Given the description of an element on the screen output the (x, y) to click on. 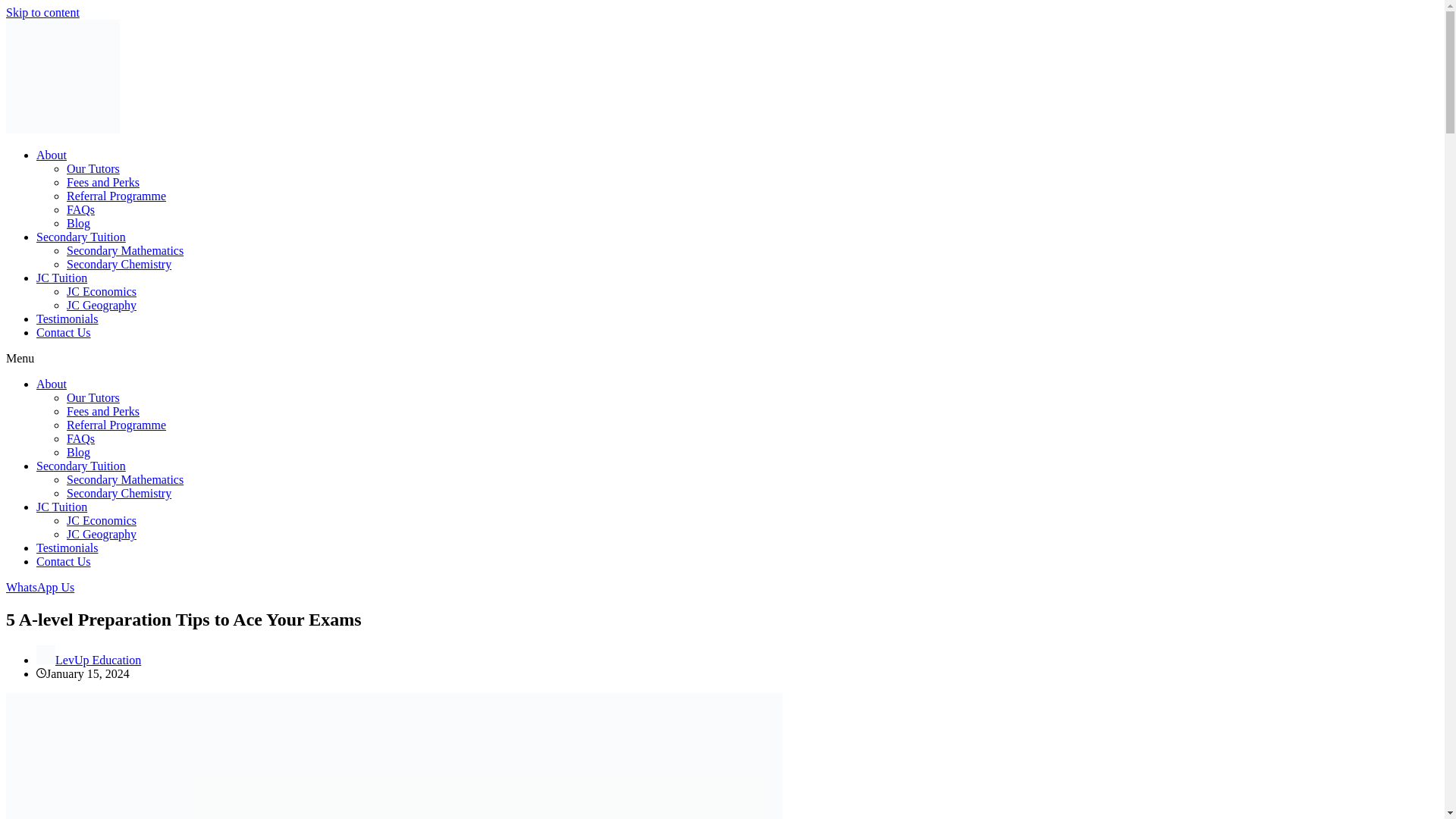
About (51, 383)
Secondary Mathematics (124, 250)
Referral Programme (115, 195)
Referral Programme (115, 424)
Secondary Chemistry (118, 492)
Secondary Chemistry (118, 264)
Our Tutors (92, 397)
WhatsApp Us (39, 586)
Posts by LevUp Education (98, 659)
Testimonials (67, 318)
Contact Us (63, 332)
LevUp Education (98, 659)
JC Economics (101, 520)
About (51, 154)
Secondary Mathematics (124, 479)
